Given the description of an element on the screen output the (x, y) to click on. 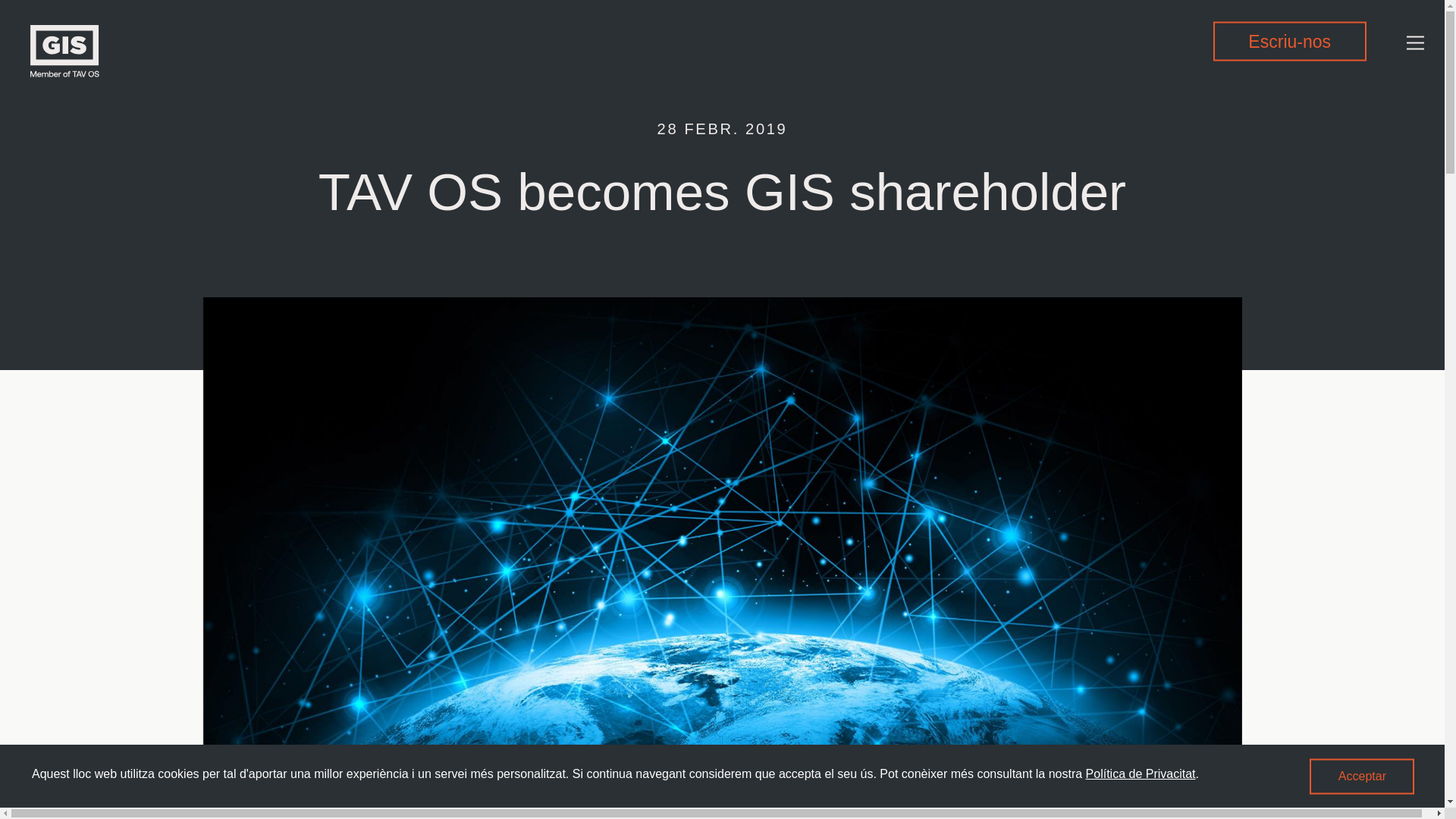
Escriu-nos (1289, 41)
